Given the description of an element on the screen output the (x, y) to click on. 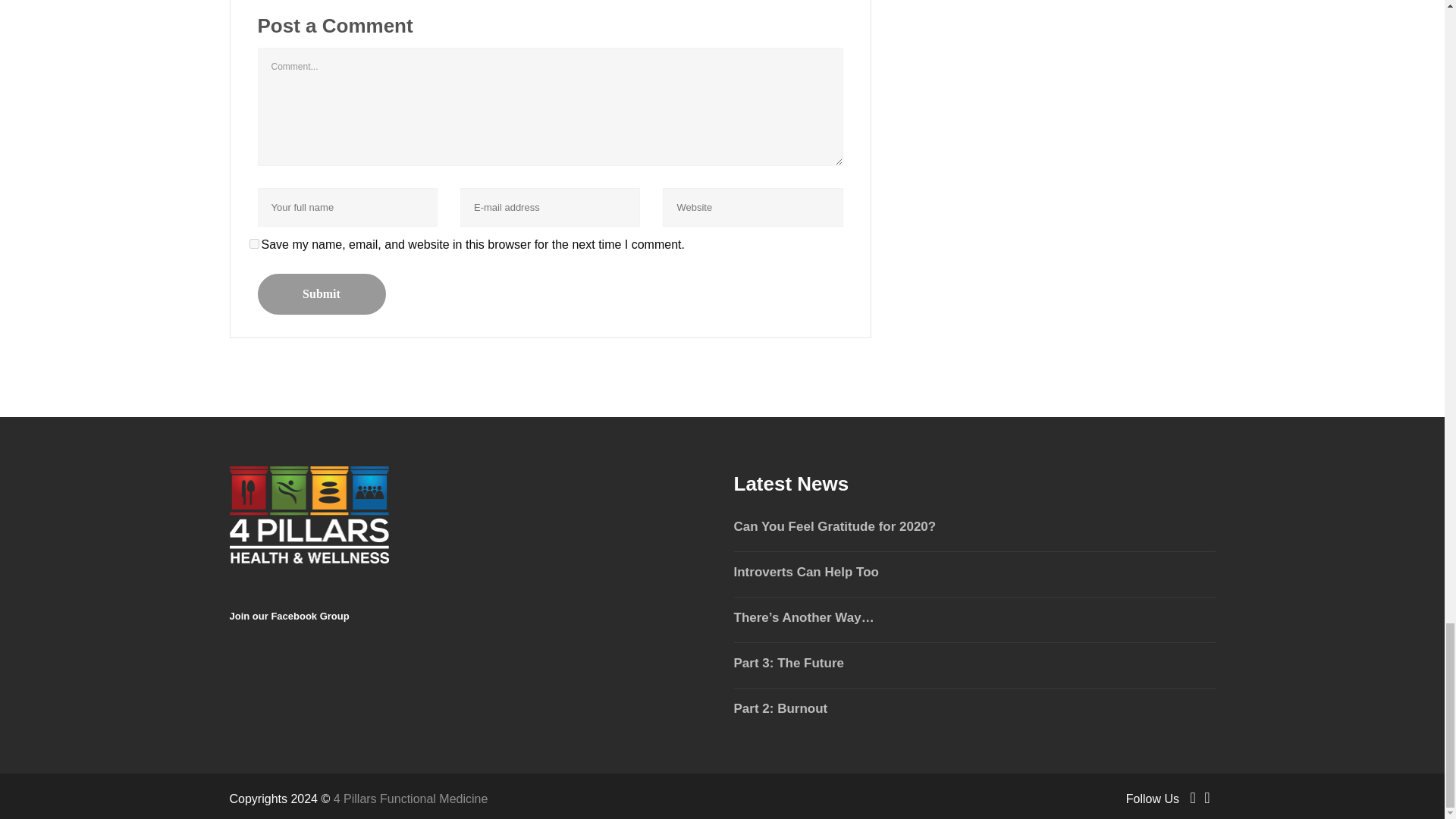
Submit (321, 293)
yes (253, 243)
